Given the description of an element on the screen output the (x, y) to click on. 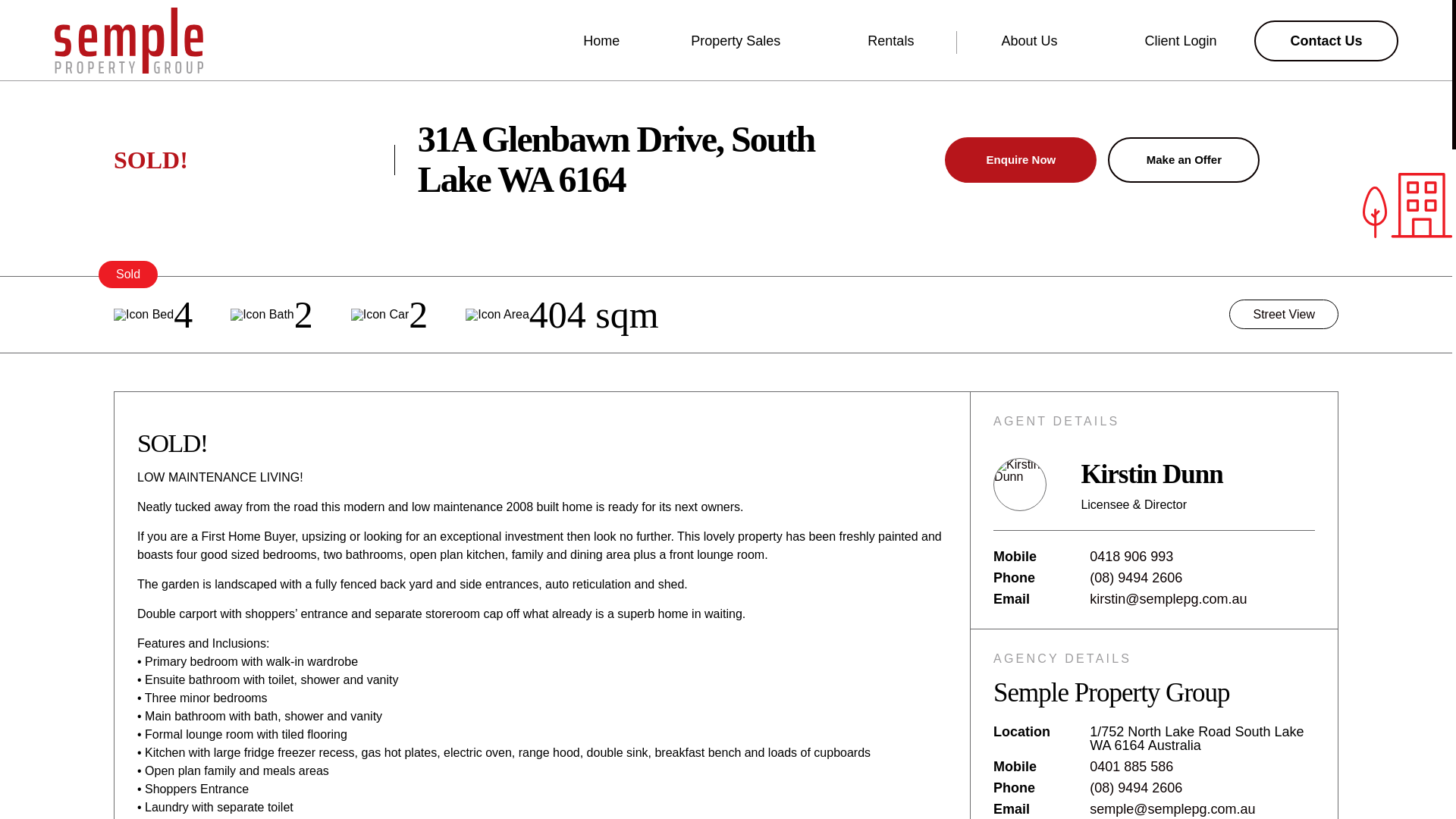
Rentals (898, 40)
Property Sales (743, 40)
Home (601, 40)
